Given the description of an element on the screen output the (x, y) to click on. 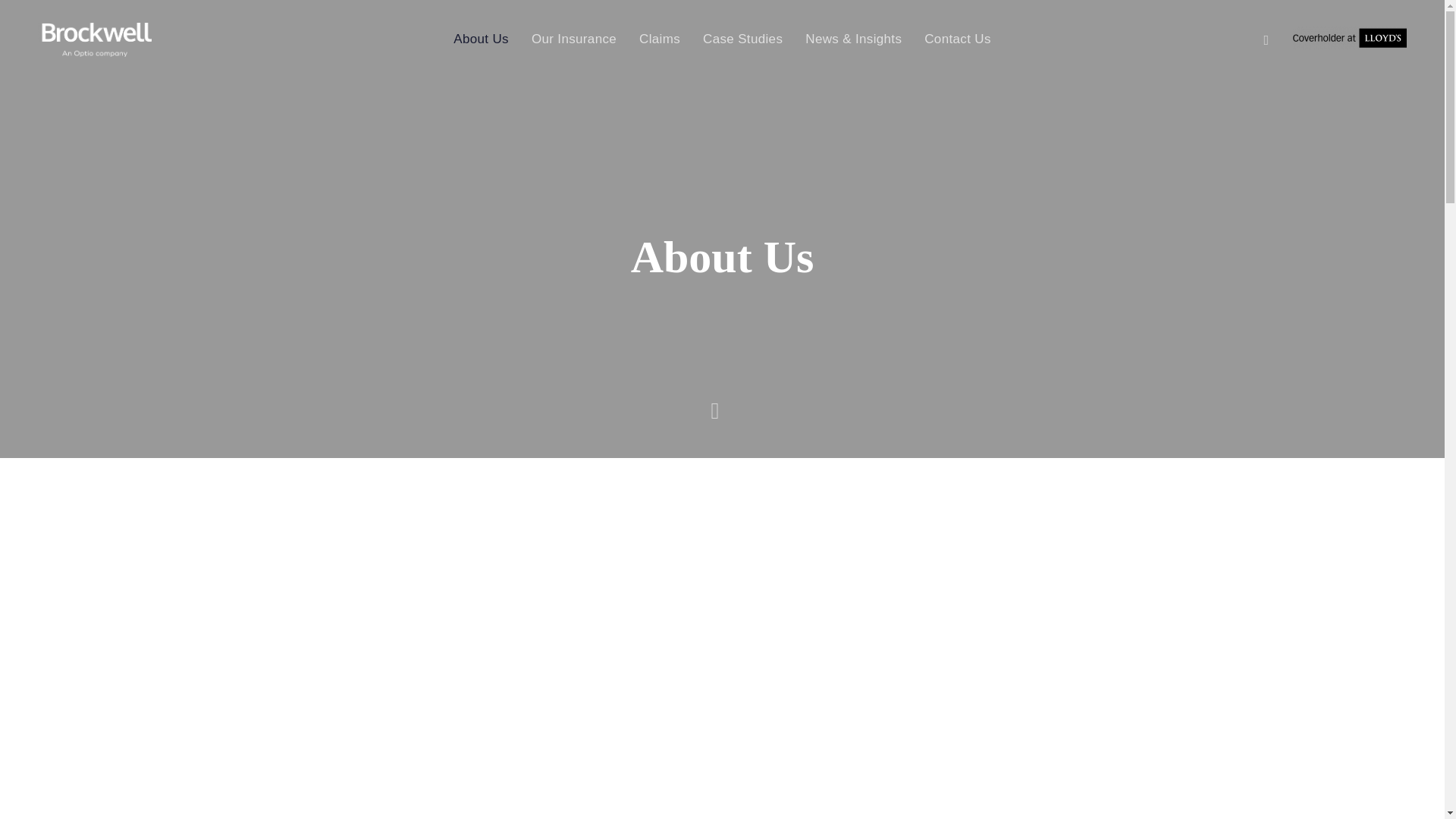
Contact Us (957, 39)
About Us (480, 39)
Our Insurance (573, 39)
Case Studies (742, 39)
brockwell-lloyds-coverholder-logo (1349, 37)
